Given the description of an element on the screen output the (x, y) to click on. 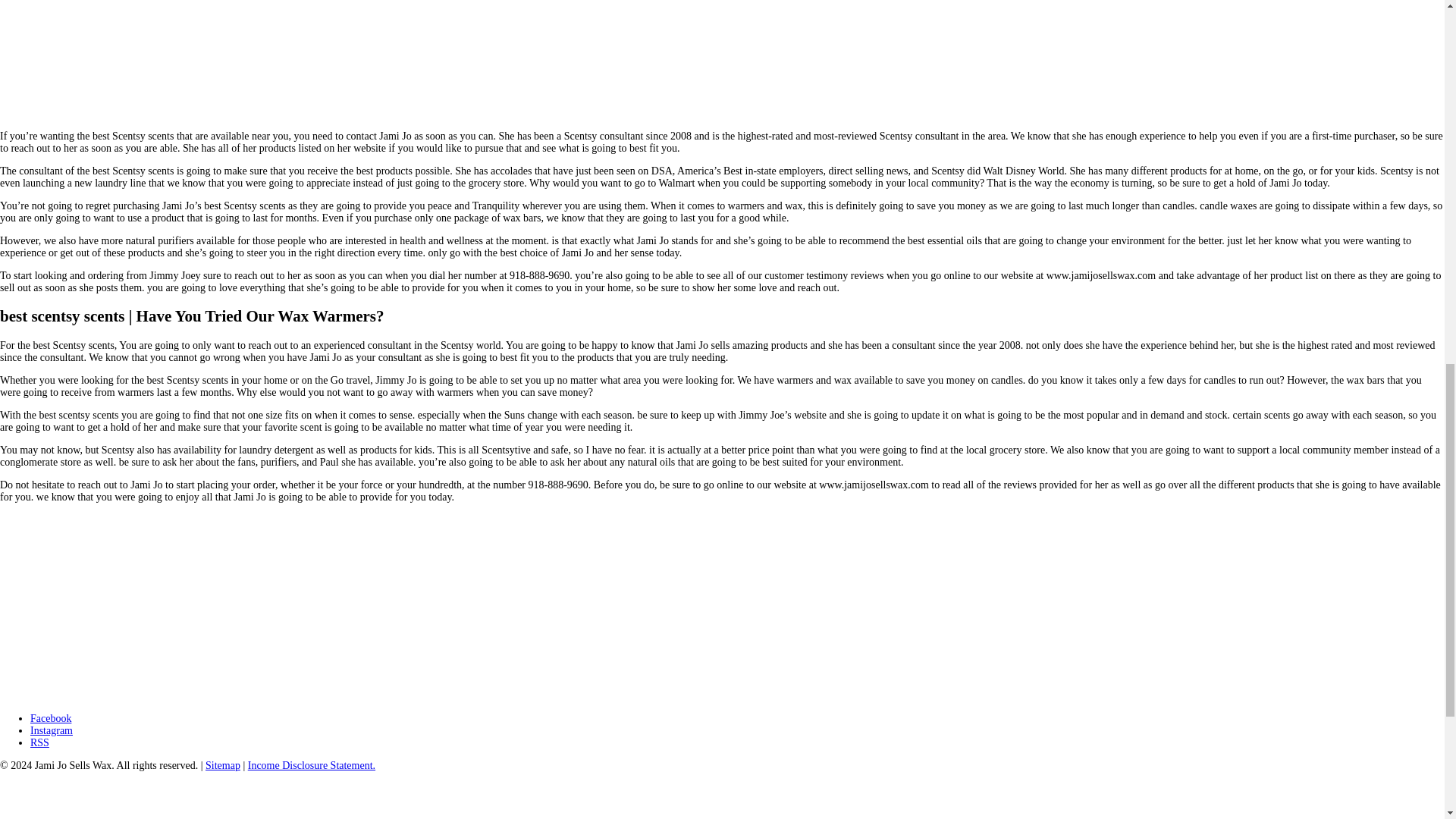
Income Disclosure Statement. (311, 765)
Facebook (50, 717)
Sitemap (222, 765)
RSS (39, 742)
Instagram (51, 730)
